Given the description of an element on the screen output the (x, y) to click on. 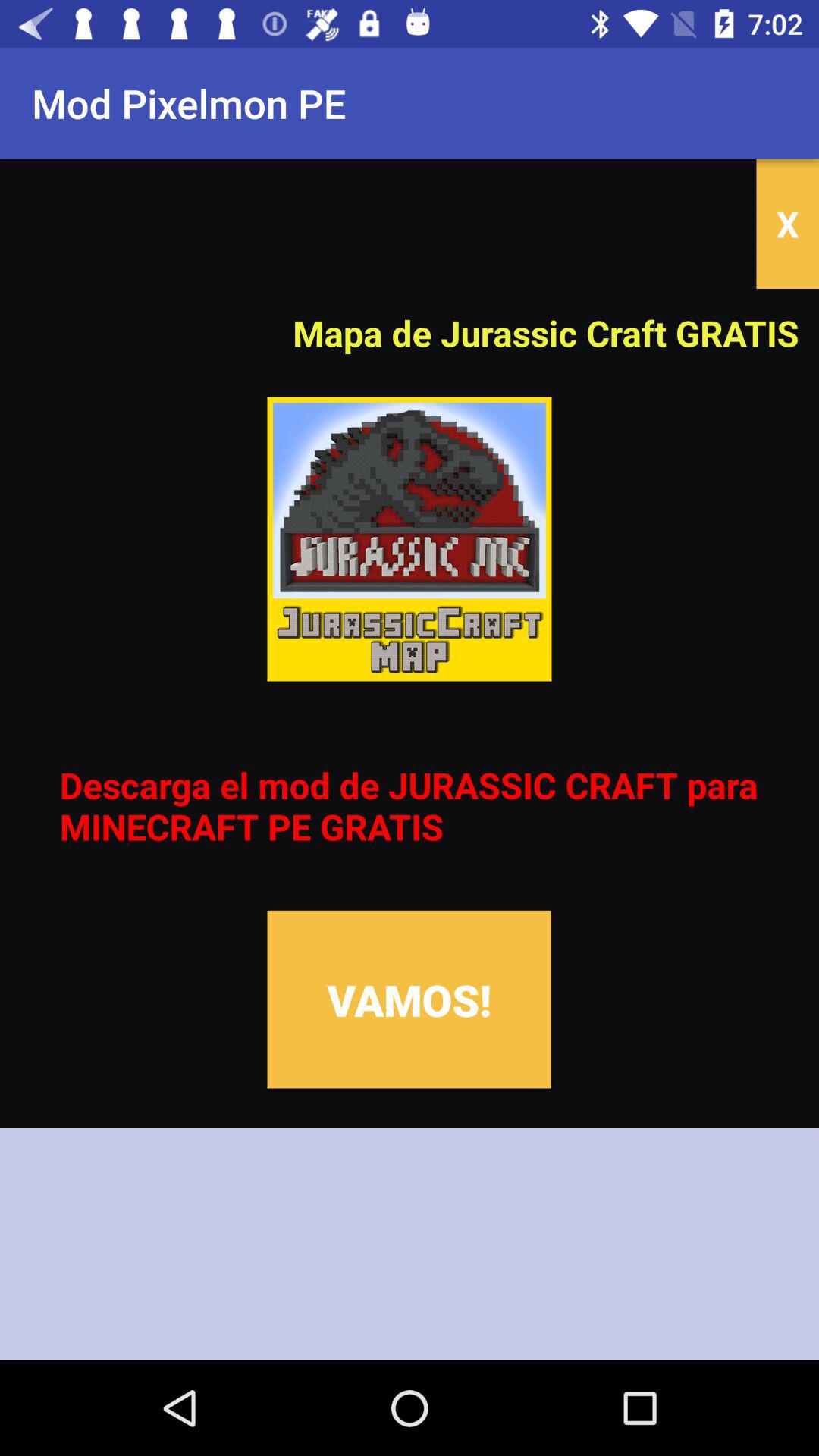
launch the icon below descarga el mod icon (409, 999)
